Given the description of an element on the screen output the (x, y) to click on. 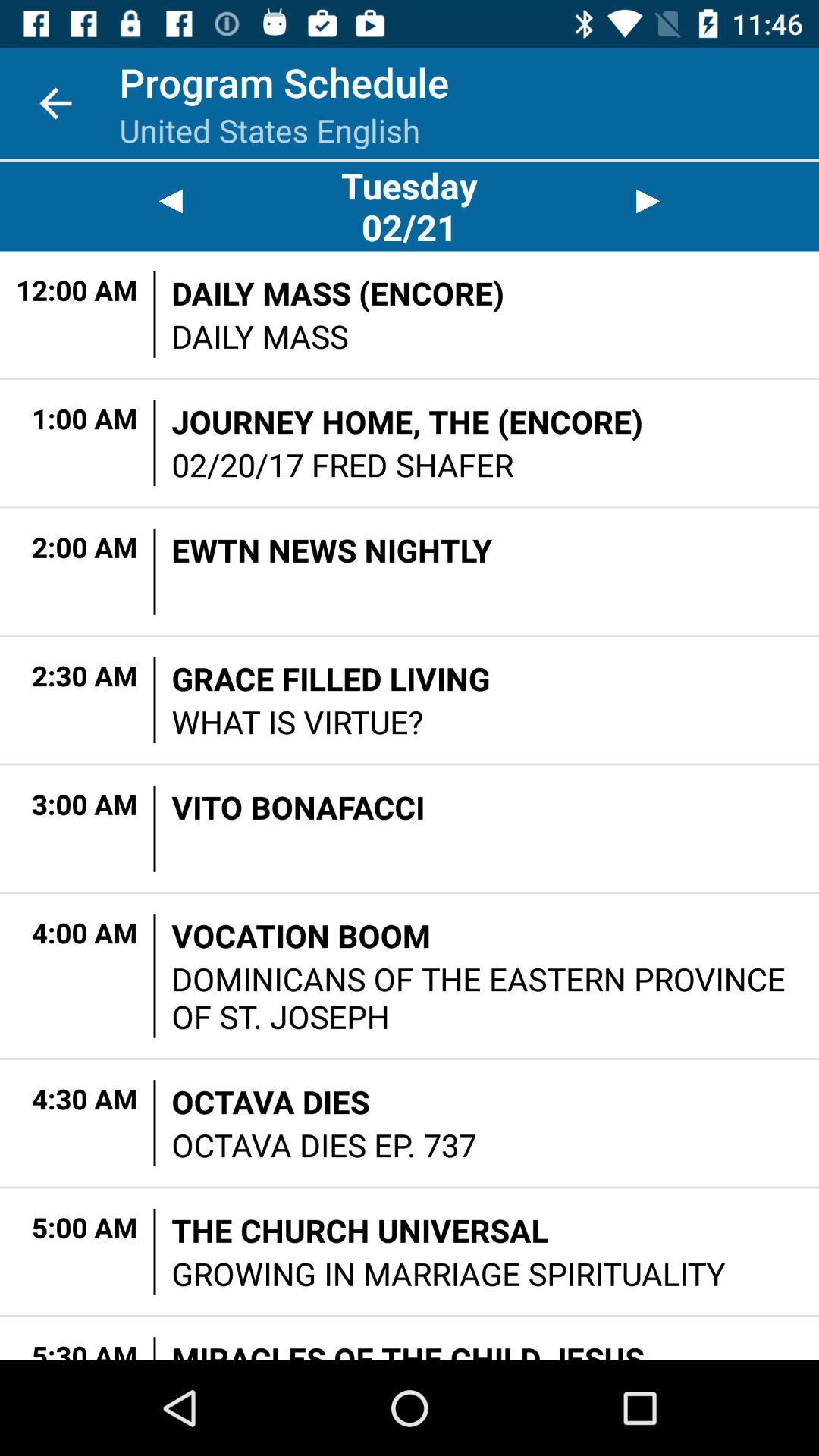
go backwards one day (170, 201)
